Given the description of an element on the screen output the (x, y) to click on. 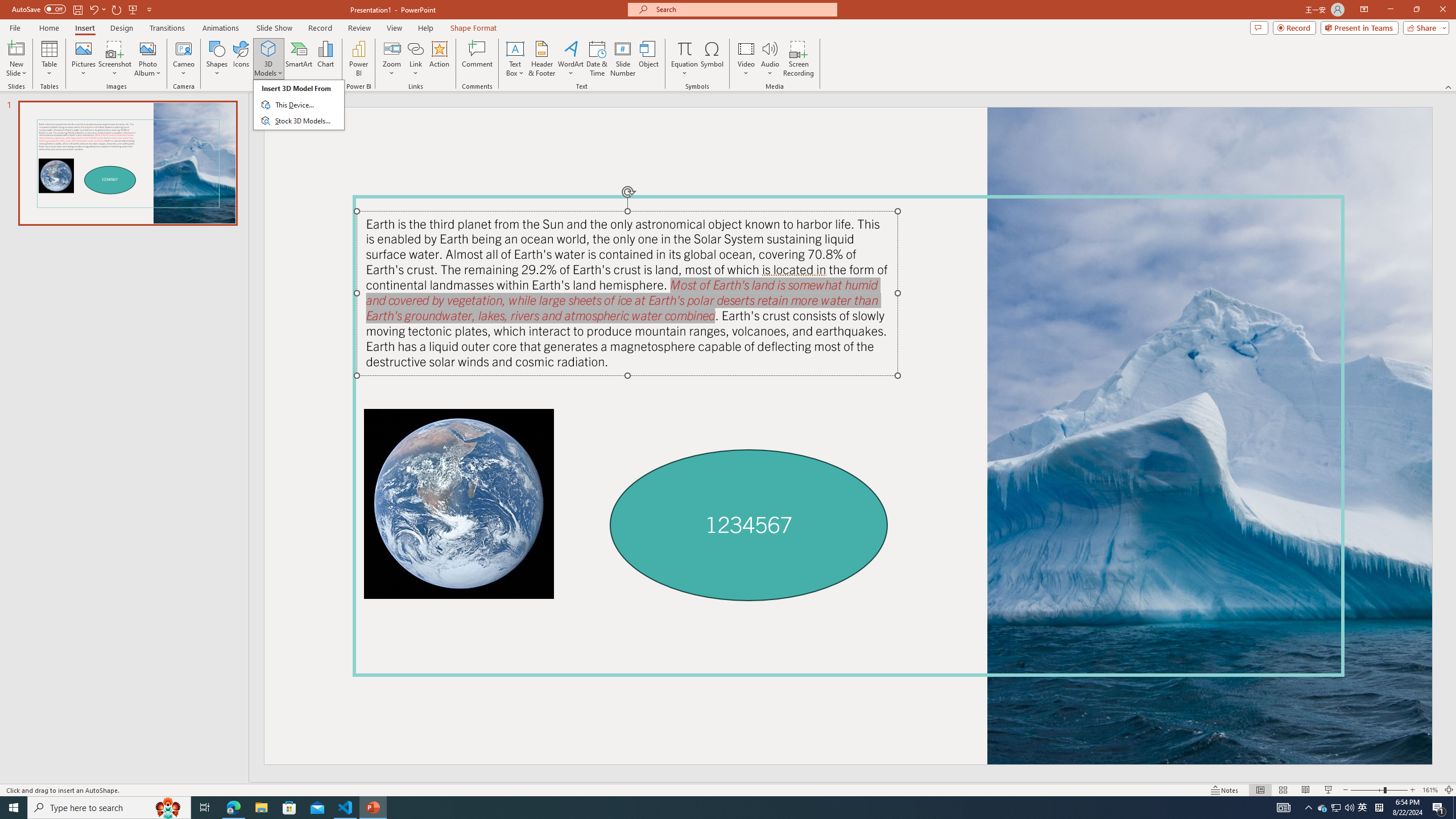
SmartArt... (298, 58)
Video (745, 58)
Chart... (325, 58)
Screen Recording... (798, 58)
Date & Time... (596, 58)
